Given the description of an element on the screen output the (x, y) to click on. 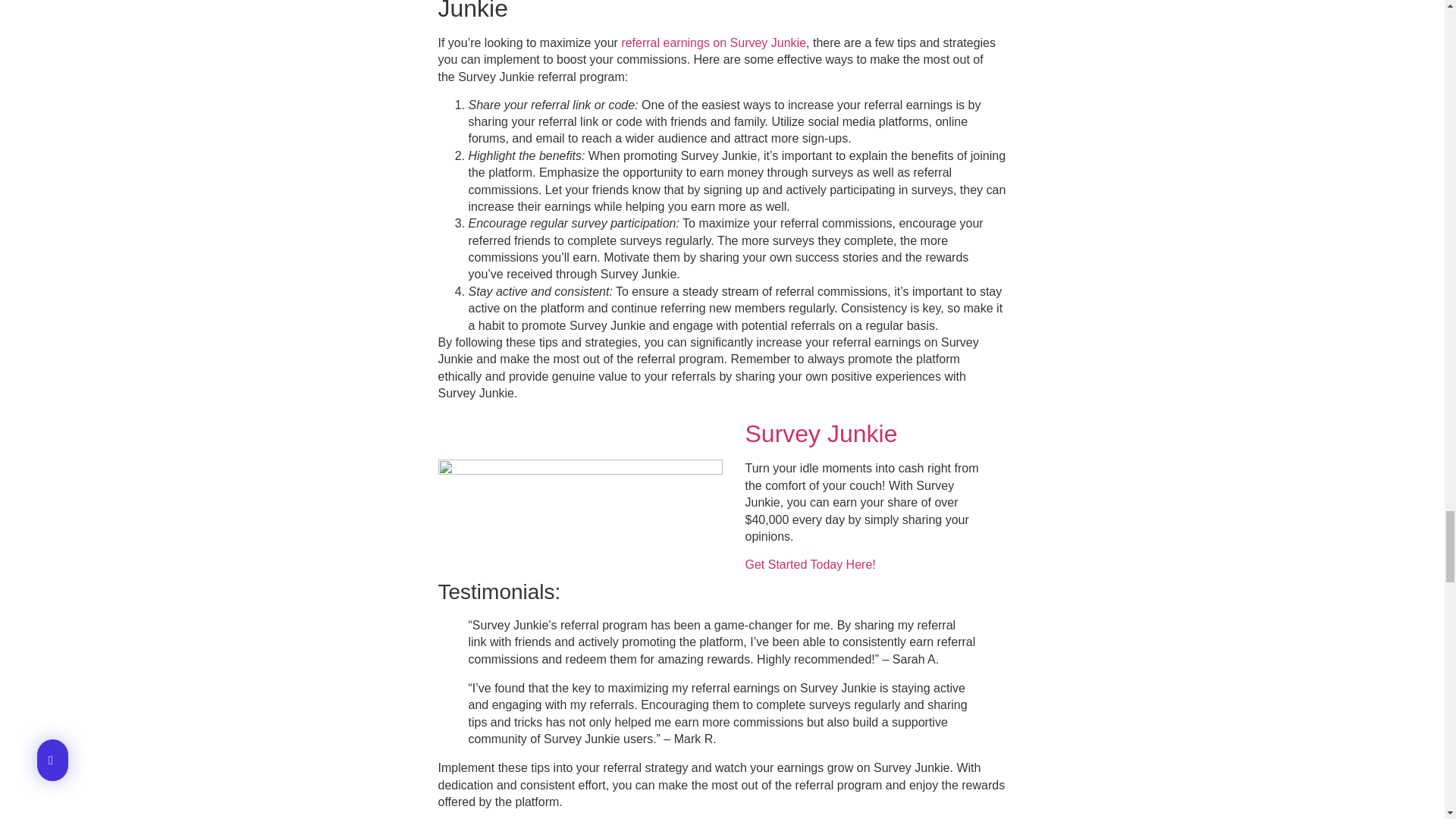
Get Started Today Here! (809, 563)
referral earnings on Survey Junkie (713, 42)
Survey Junkie  (824, 433)
